Given the description of an element on the screen output the (x, y) to click on. 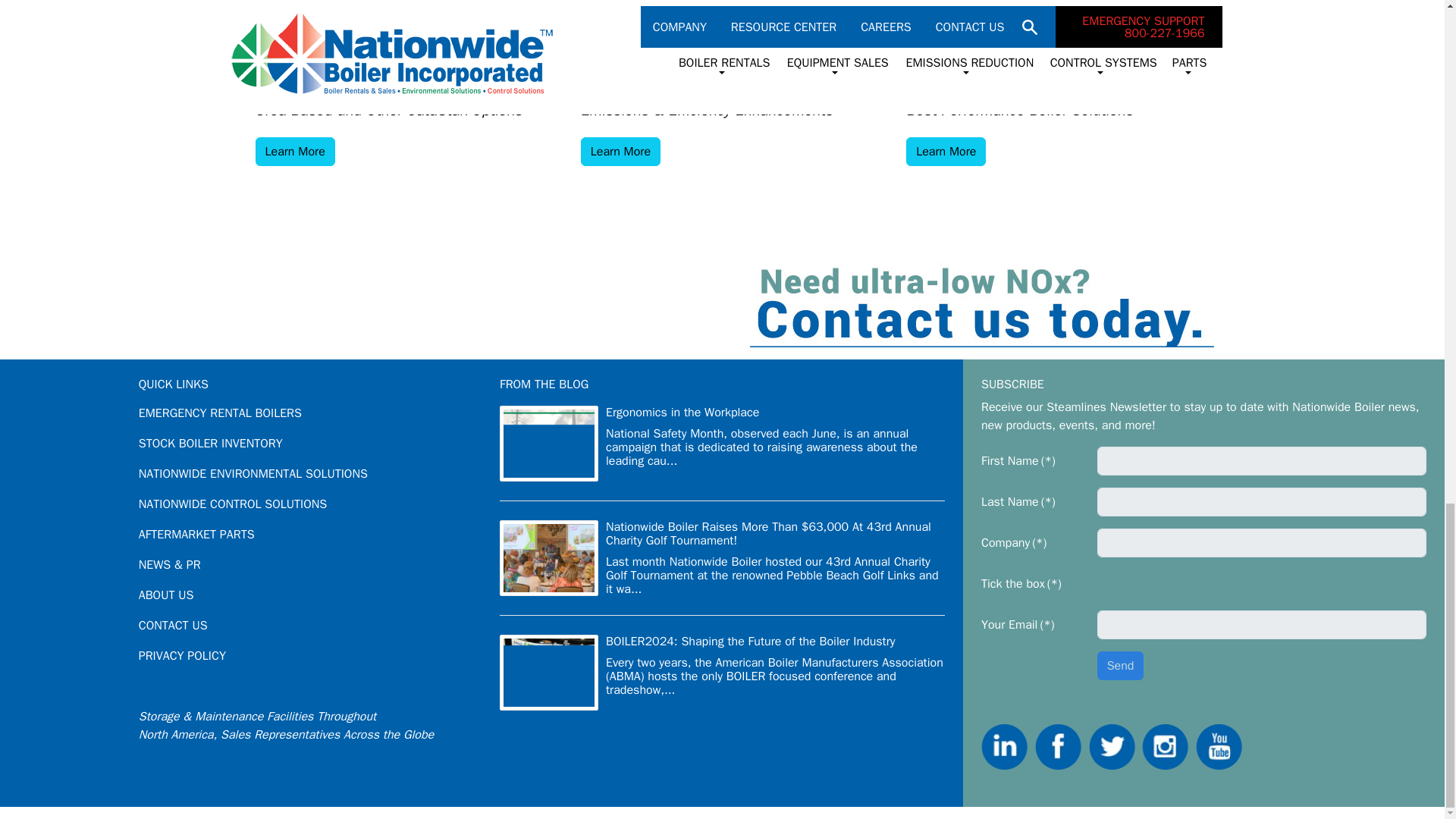
Ergonomics in the Workplace (681, 412)
send the form (1120, 665)
NATIONAL-SAFETY-MONTH-5 (548, 443)
BOILER2024 (548, 672)
BOILER2024: Shaping the Future of the Boiler Industry (750, 641)
